Given the description of an element on the screen output the (x, y) to click on. 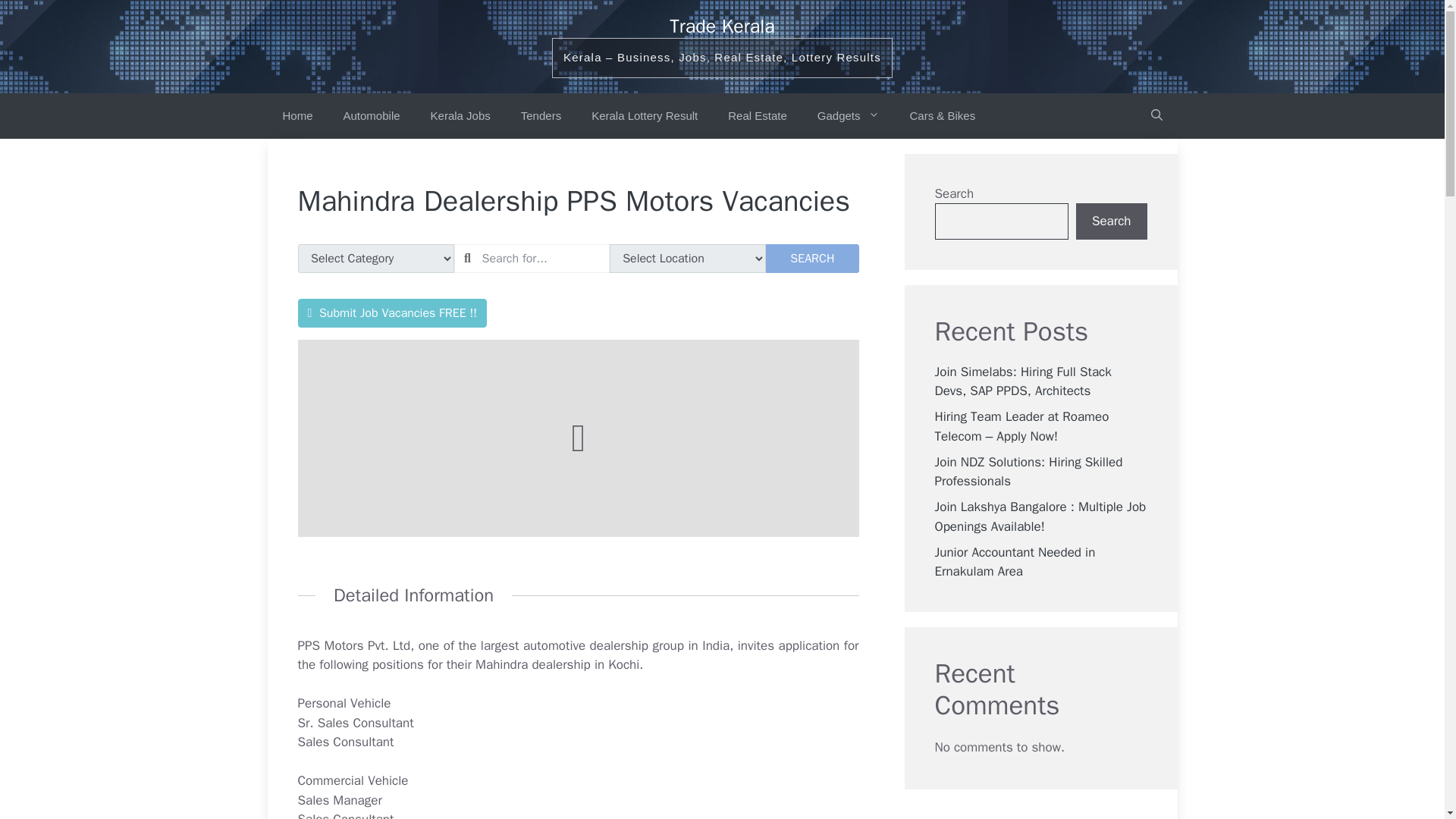
Trade Kerala (721, 25)
Automobile (371, 115)
Submit Job Vacancies FREE !! (391, 312)
Kerala Lottery Result (644, 115)
Tenders (540, 115)
Gadgets (848, 115)
SEARCH (812, 258)
Kerala Jobs (459, 115)
Real Estate (757, 115)
Home (296, 115)
